Given the description of an element on the screen output the (x, y) to click on. 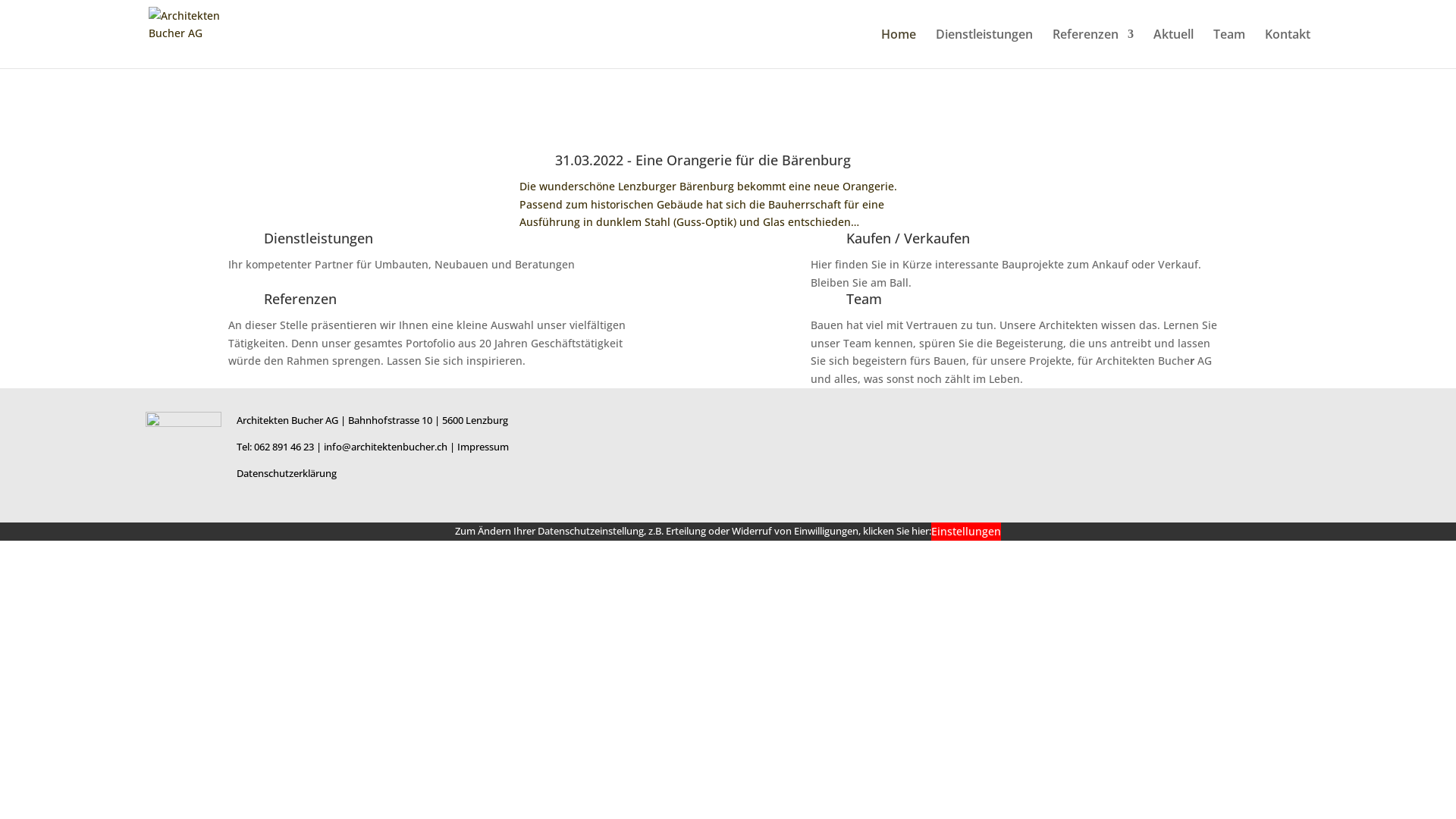
Dienstleistungen Element type: text (318, 238)
Team Element type: text (863, 298)
Kaufen / Verkaufen Element type: text (907, 238)
Impressum Element type: text (482, 446)
Dienstleistungen Element type: text (983, 48)
Aktuell Element type: text (1173, 48)
Kontakt Element type: text (1287, 48)
info@architektenbucher.ch Element type: text (385, 446)
Referenzen Element type: text (299, 298)
Team Element type: text (1229, 48)
Referenzen Element type: text (1092, 48)
Einstellungen Element type: text (966, 531)
Home Element type: text (898, 48)
